Given the description of an element on the screen output the (x, y) to click on. 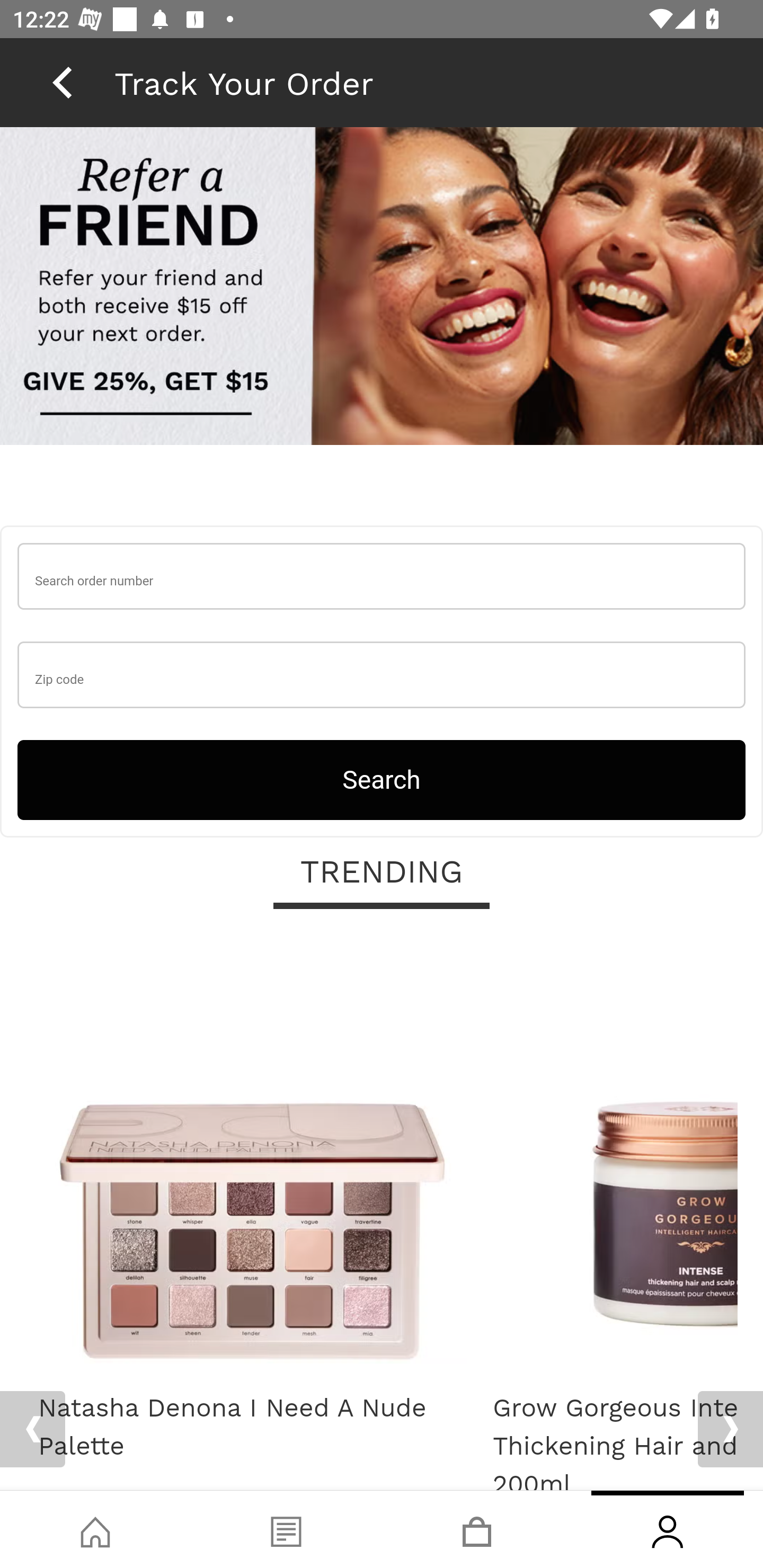
back (61, 82)
raf (381, 288)
Search (381, 779)
TRENDING (381, 874)
Natasha Denona I Need A Nude Palette (252, 1156)
Natasha Denona I Need A Nude Palette (252, 1428)
Previous (32, 1428)
Next (730, 1428)
Shop, tab, 1 of 4 (95, 1529)
Blog, tab, 2 of 4 (285, 1529)
Basket, tab, 3 of 4 (476, 1529)
Account, tab, 4 of 4 (667, 1529)
